Given the description of an element on the screen output the (x, y) to click on. 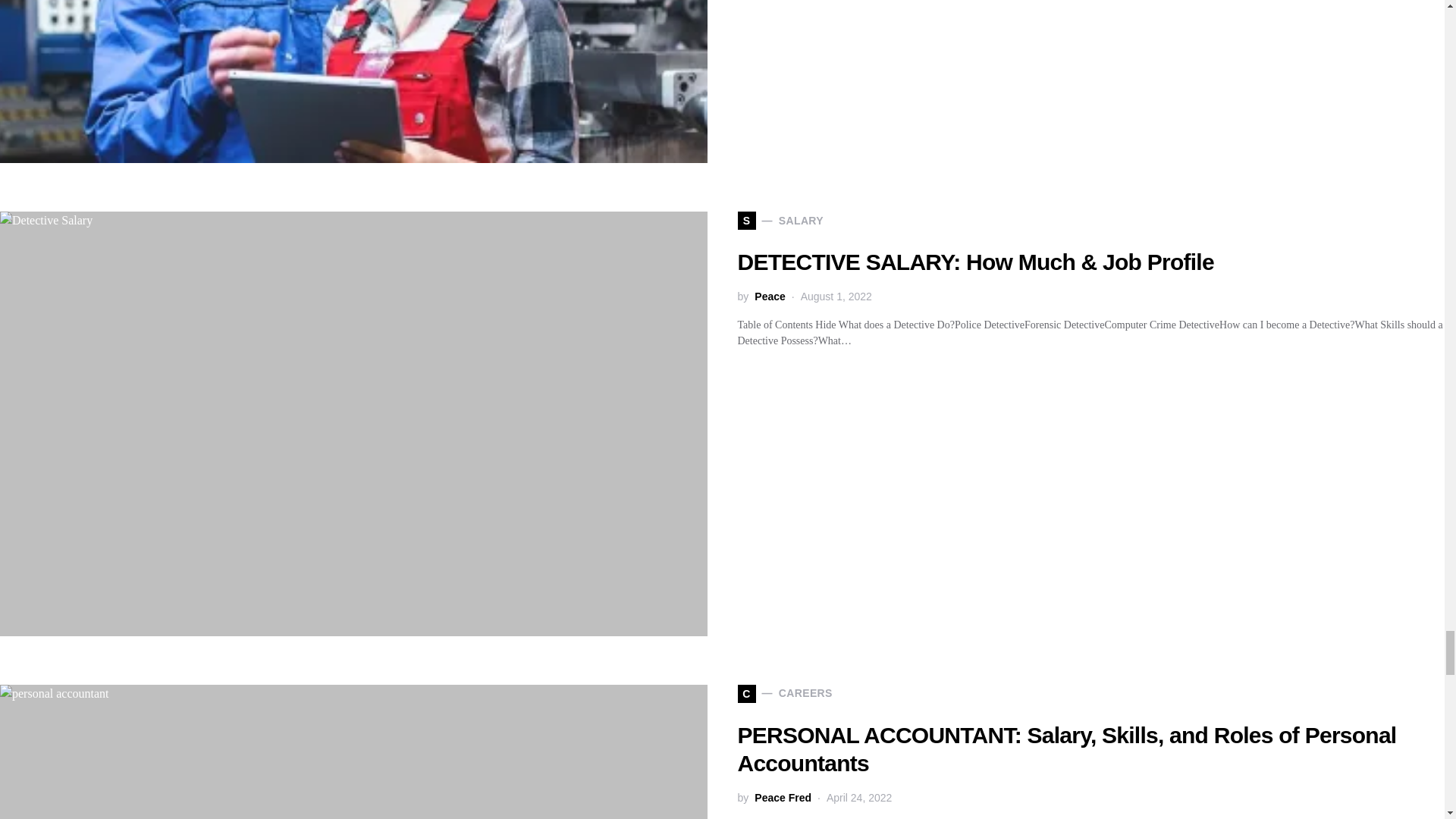
View all posts by Peace (769, 296)
View all posts by Peace Fred (782, 797)
